Given the description of an element on the screen output the (x, y) to click on. 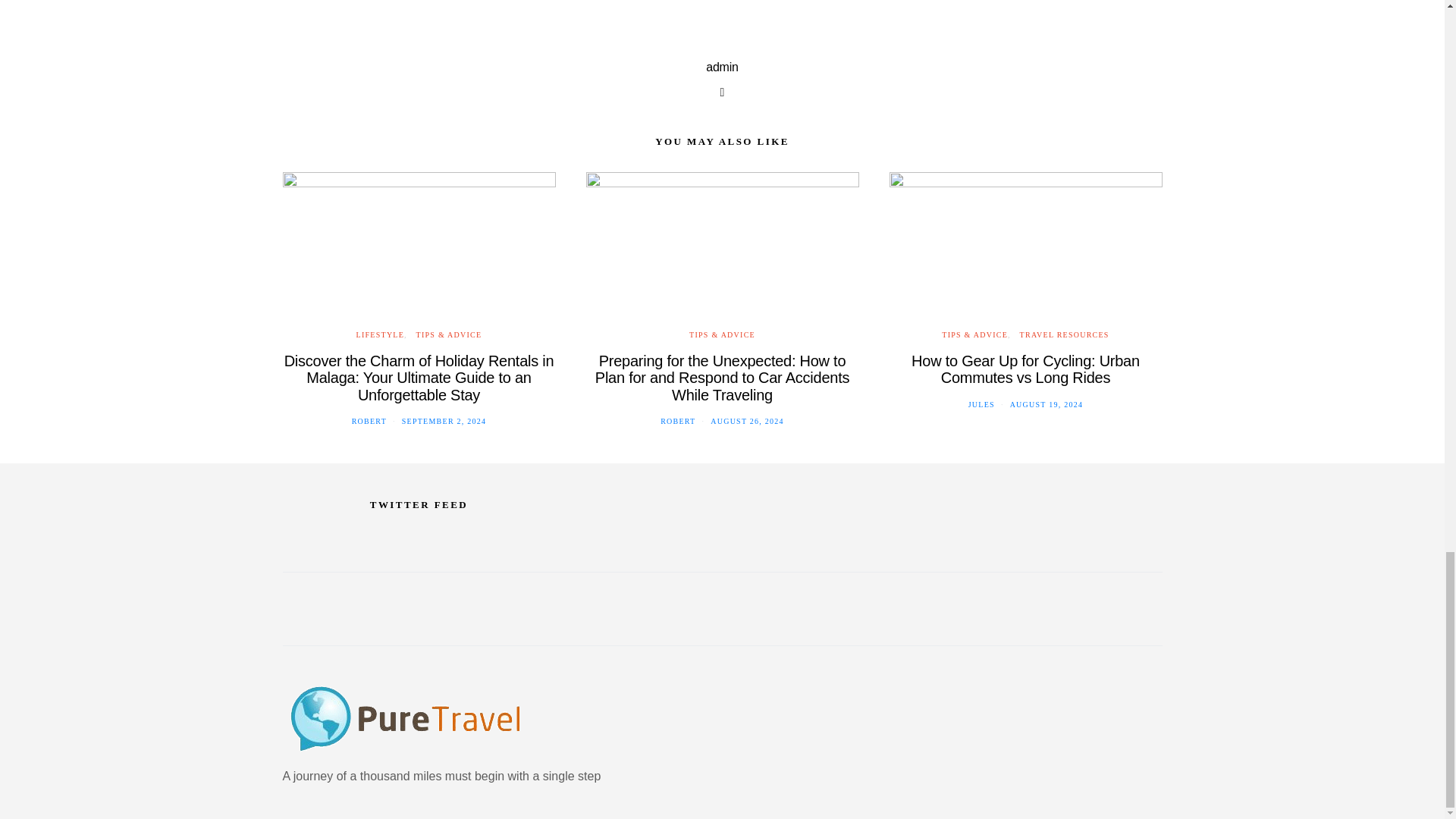
View all posts by Robert (678, 420)
View all posts by Jules (981, 404)
View all posts by Robert (369, 420)
